Given the description of an element on the screen output the (x, y) to click on. 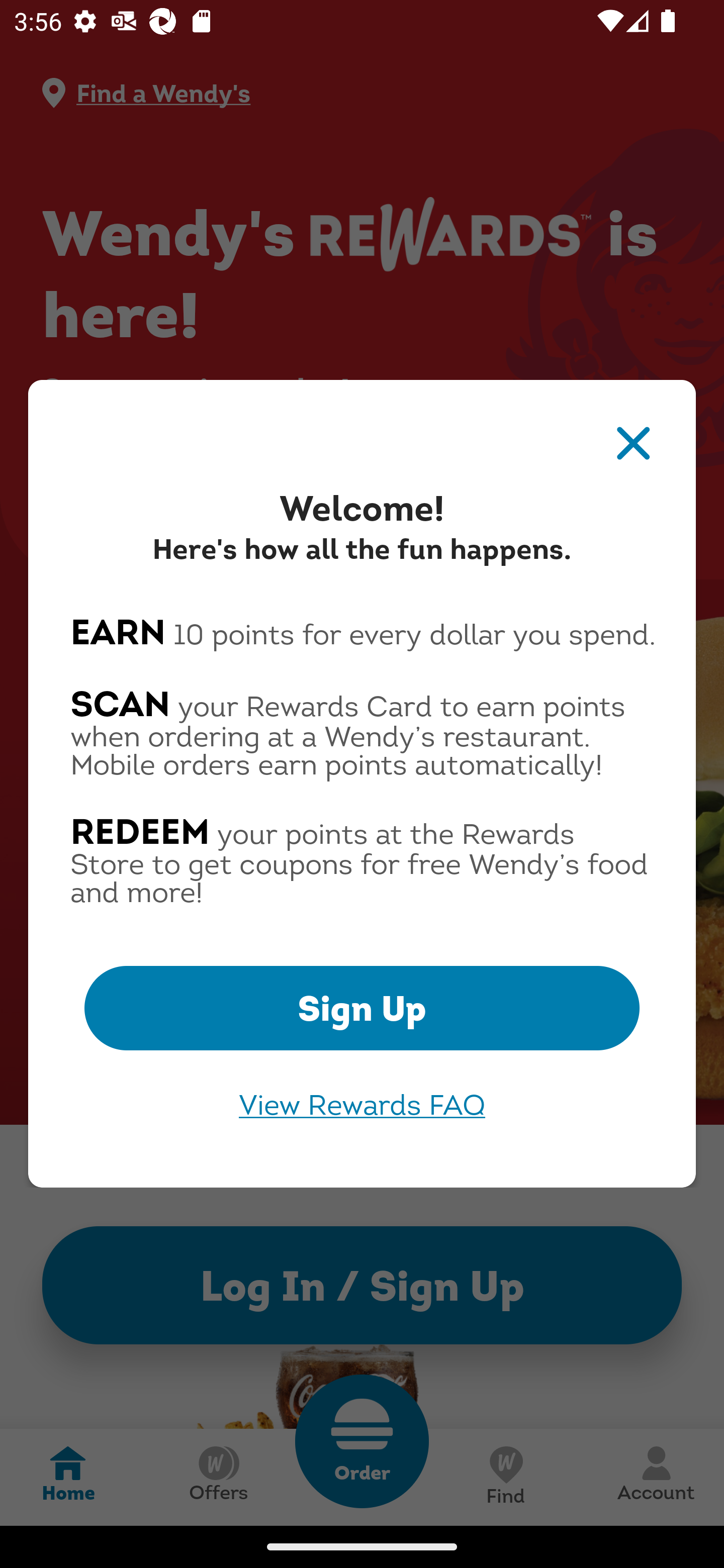
Sign Up (361, 1007)
View Rewards FAQ View Rewards FAQ Link (361, 1104)
